Given the description of an element on the screen output the (x, y) to click on. 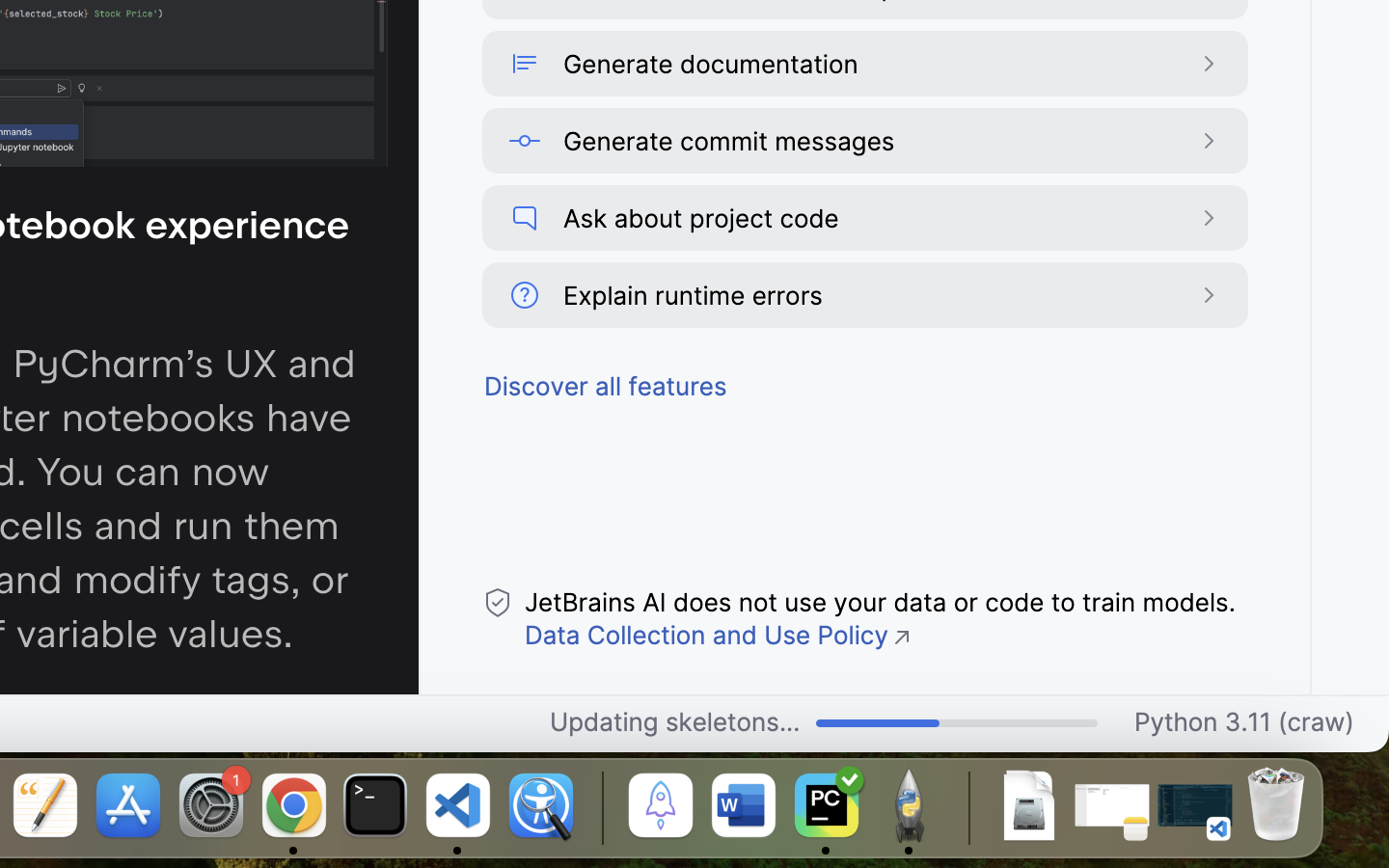
0.4285714328289032 Element type: AXDockItem (598, 807)
Python 3.11 (craw) Element type: AXStaticText (1243, 724)
Updating skeletons... Element type: AXStaticText (674, 723)
JetBrains AI does not use your data or code to train models. Data Collection and Use Policy Element type: AXTextField (879, 618)
41 Element type: AXProgressIndicator (956, 723)
